Given the description of an element on the screen output the (x, y) to click on. 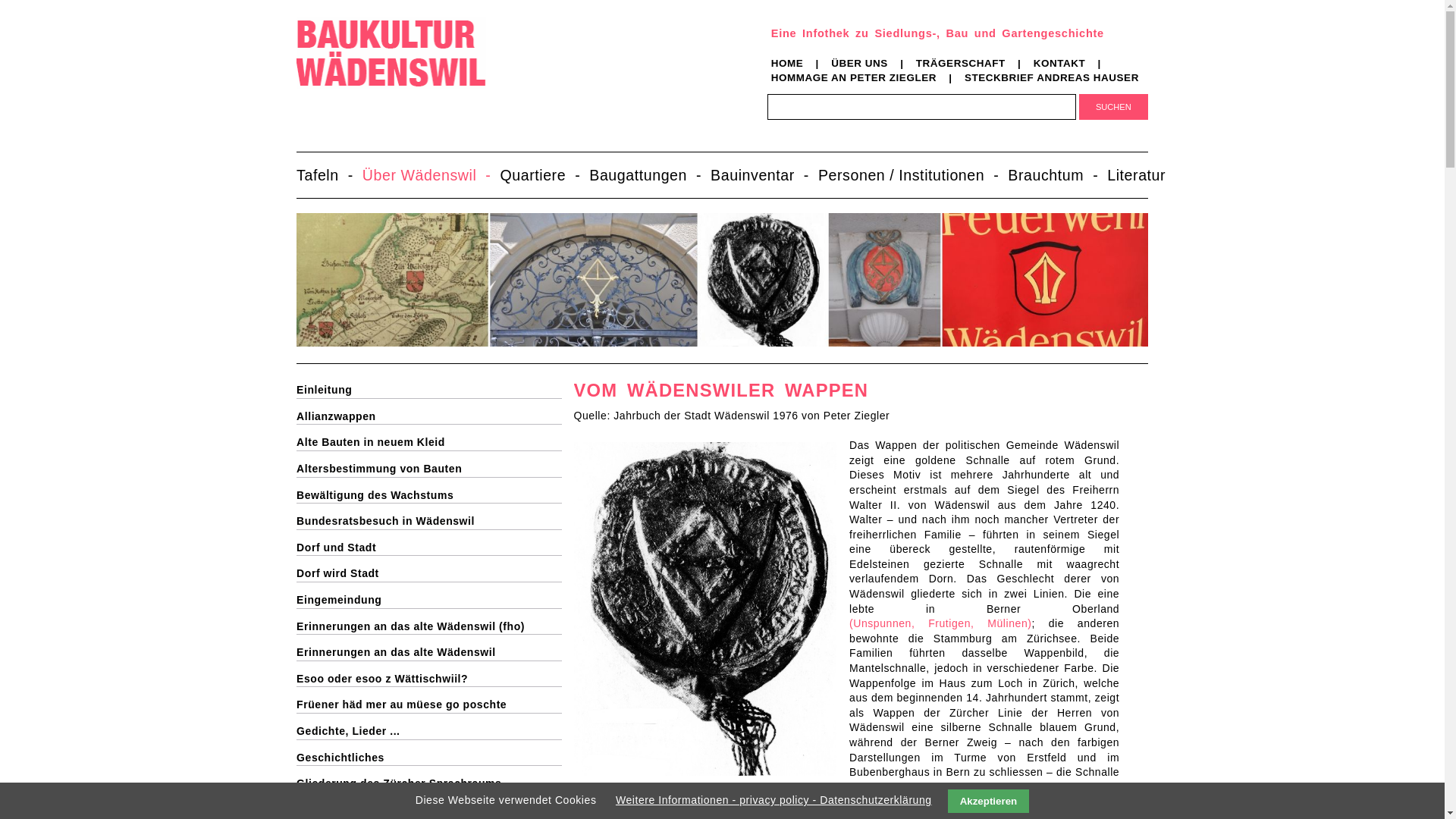
Akzeptieren Element type: text (988, 800)
Baugattungen Element type: text (649, 175)
Literatur Element type: text (1145, 175)
HOMMAGE AN PETER ZIEGLER Element type: text (853, 77)
STECKBRIEF ANDREAS HAUSER Element type: text (1051, 77)
Geschichtliches Element type: text (428, 757)
Bauinventar Element type: text (764, 175)
Altersbestimmung von Bauten Element type: text (428, 468)
Suchen Element type: text (1113, 106)
Brauchtum Element type: text (1057, 175)
Alte Bauten in neuem Kleid Element type: text (428, 442)
Personen / Institutionen Element type: text (912, 175)
Dorf und Stadt Element type: text (428, 547)
Eingemeindung Element type: text (428, 600)
Einleitung Element type: text (428, 390)
Dorf wird Stadt Element type: text (428, 573)
Allianzwappen Element type: text (428, 416)
Quartiere Element type: text (544, 175)
Gedichte, Lieder ... Element type: text (428, 731)
HOME Element type: text (787, 63)
Tafeln Element type: text (329, 175)
  Element type: text (295, 189)
KONTAKT Element type: text (1059, 63)
